Given the description of an element on the screen output the (x, y) to click on. 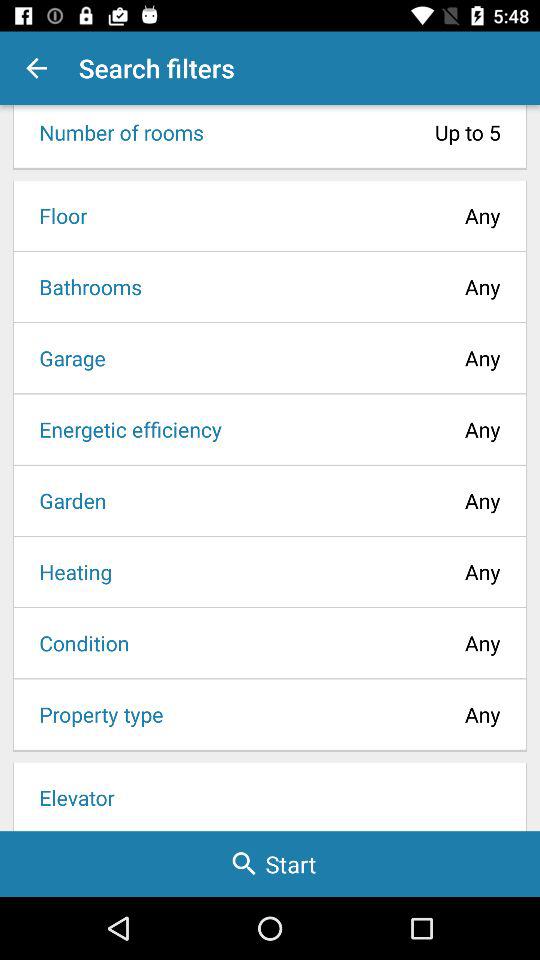
open icon above the number of rooms icon (36, 68)
